Given the description of an element on the screen output the (x, y) to click on. 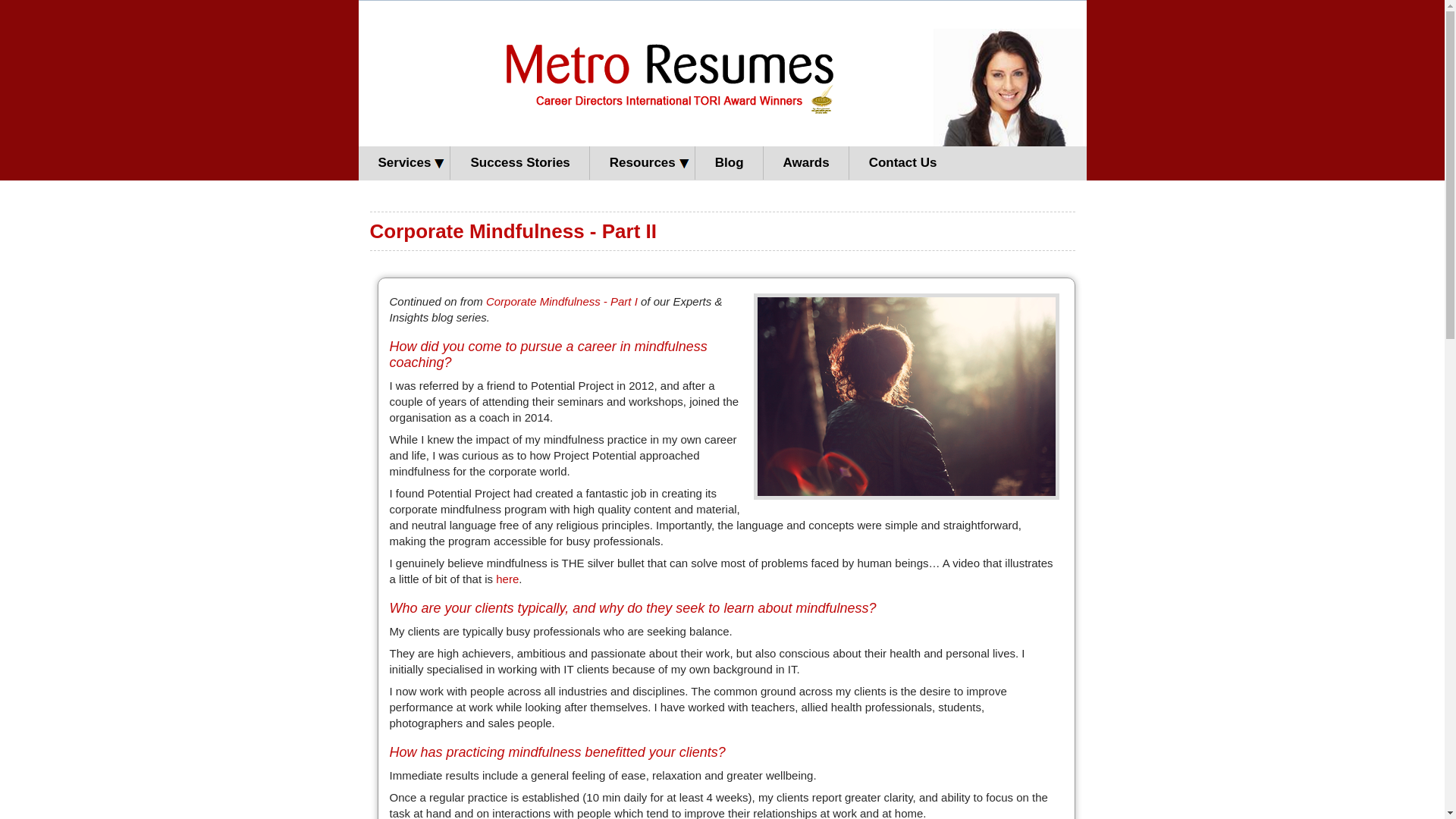
Awards Element type: text (806, 162)
Success Stories Element type: text (519, 162)
Home Element type: hover (611, 125)
Blog Element type: text (729, 162)
here Element type: text (506, 578)
Skip to main content Element type: text (690, 1)
Services Element type: text (403, 162)
Contact Us Element type: text (902, 162)
Corporate Mindfulness - Part I Element type: text (561, 300)
Resources Element type: text (642, 162)
